Given the description of an element on the screen output the (x, y) to click on. 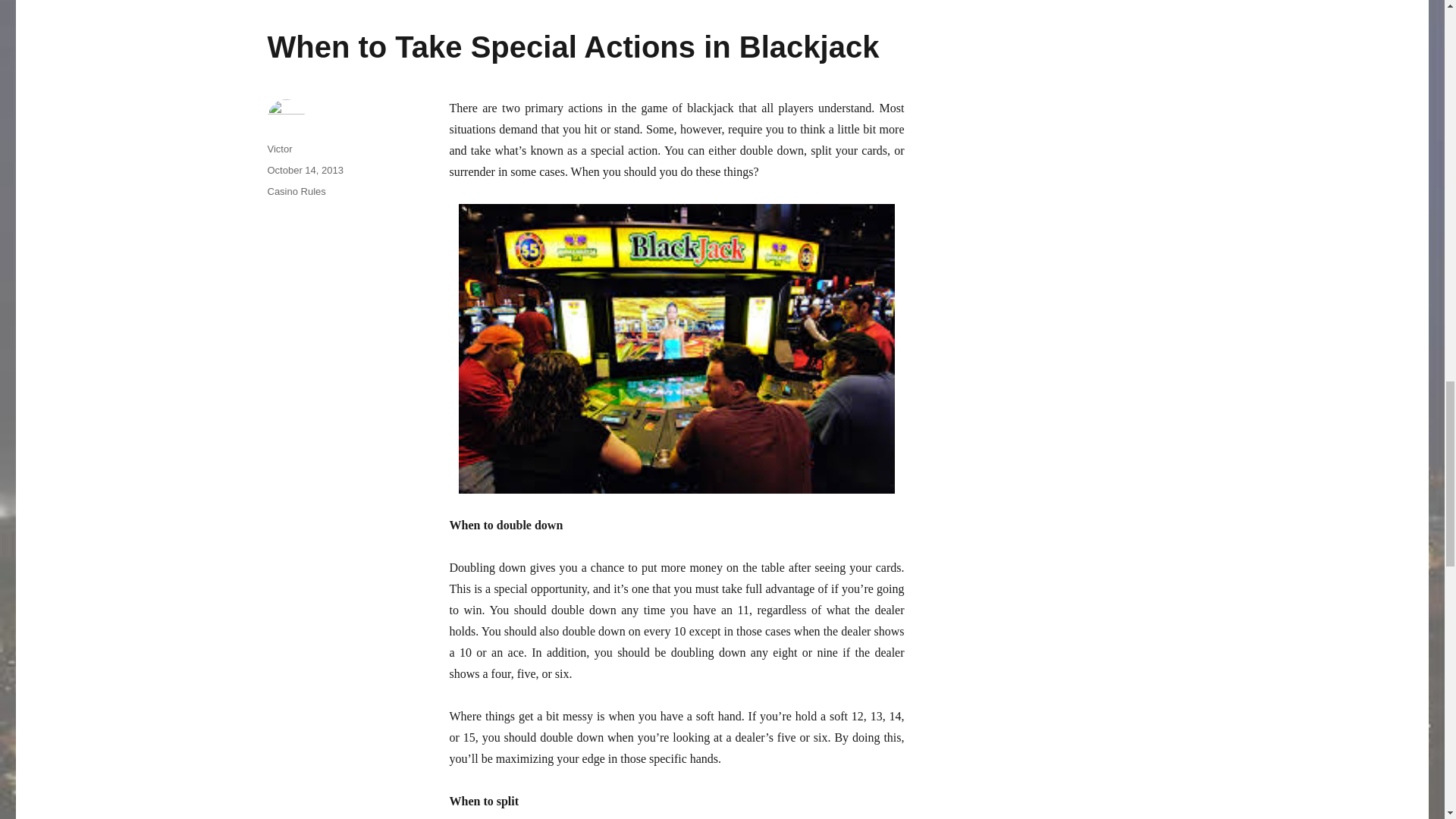
October 14, 2013 (304, 170)
Casino Rules (295, 191)
When to Take Special Actions in Blackjack (572, 46)
Victor (279, 148)
